Given the description of an element on the screen output the (x, y) to click on. 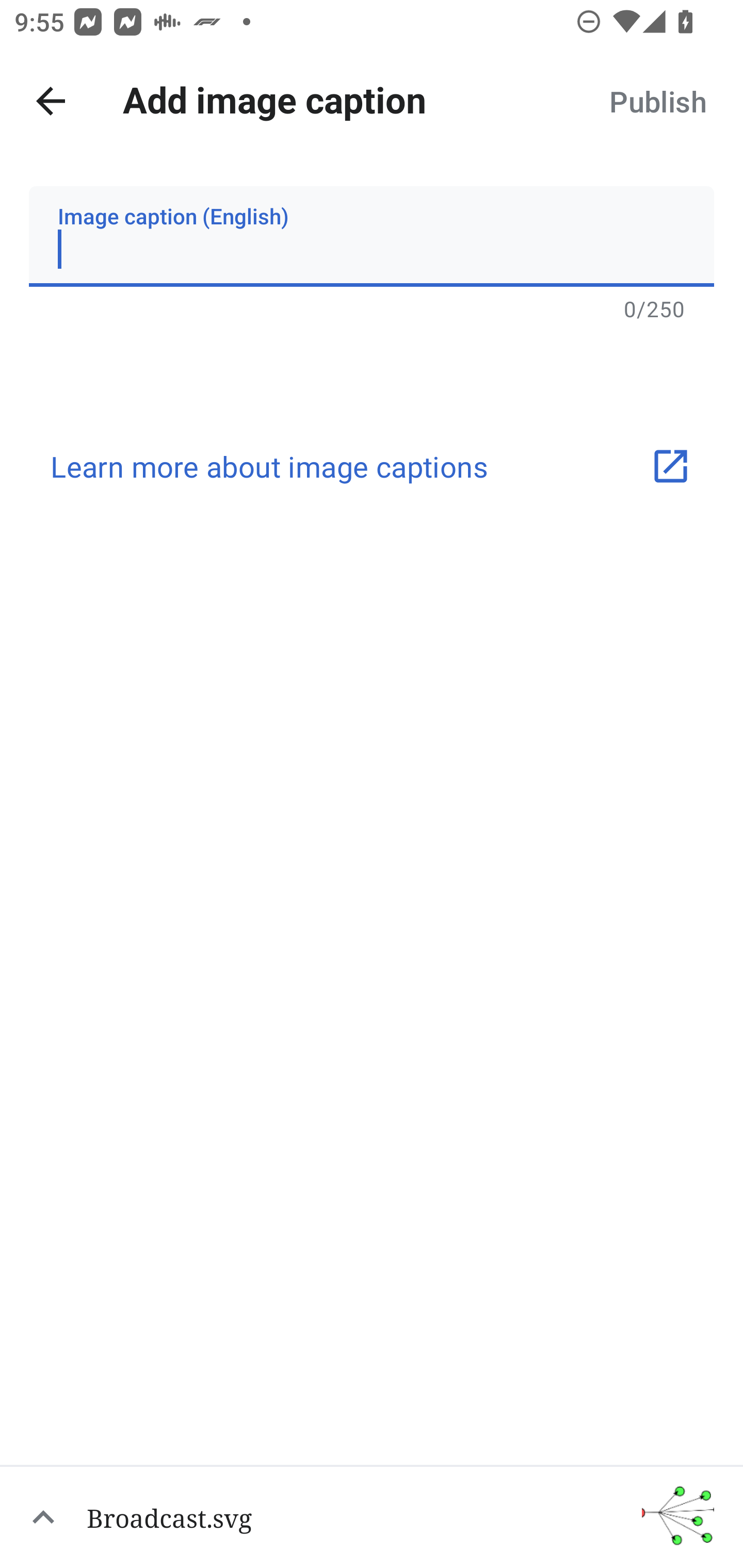
Cancel (50, 101)
Publish (657, 101)
Image caption (English) (371, 236)
Learn more about image captions (371, 466)
Broadcast.svg (371, 1516)
